Given the description of an element on the screen output the (x, y) to click on. 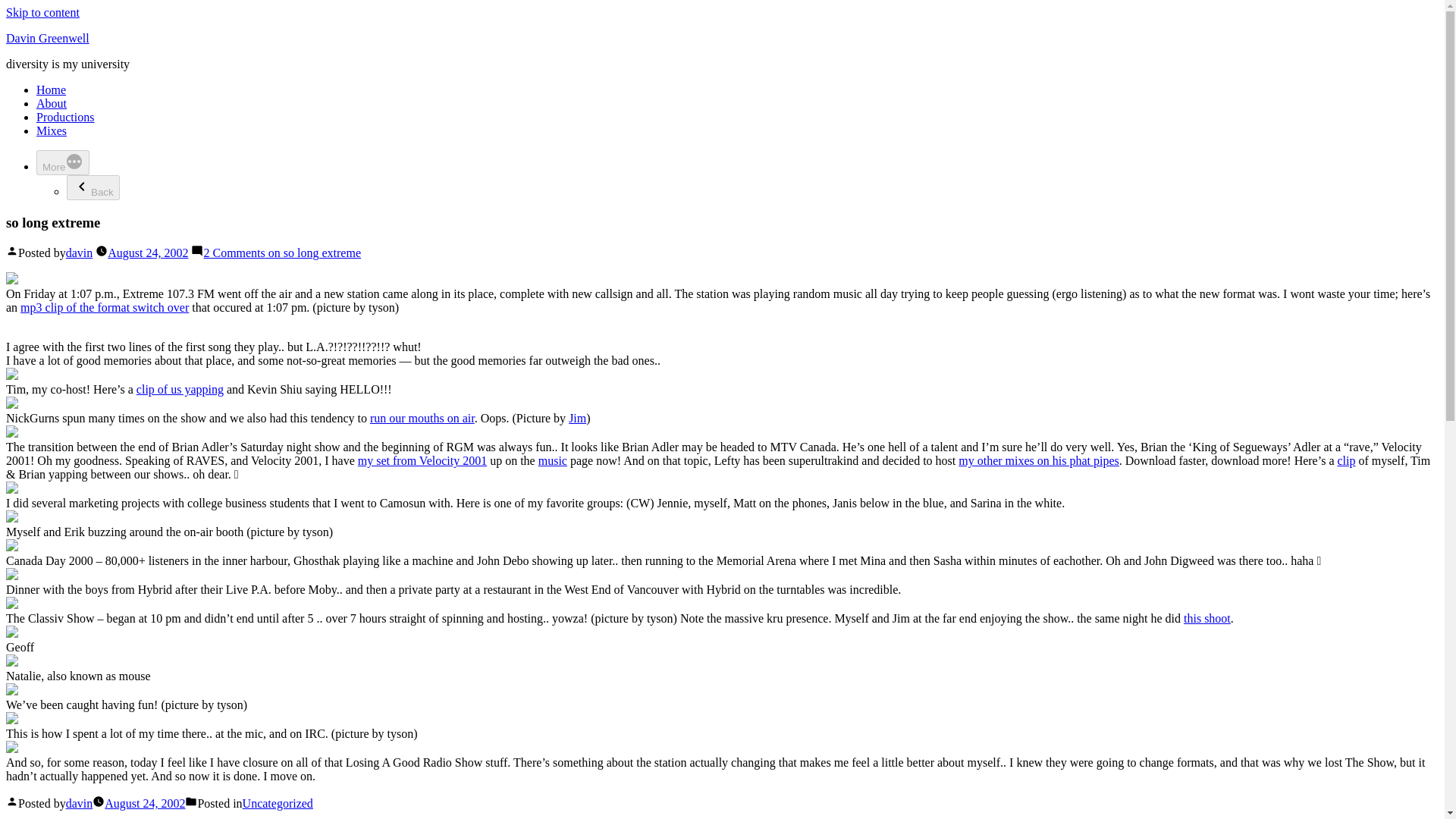
Mixes (51, 130)
Uncategorized (278, 802)
2 Comments on so long extreme (282, 252)
clip (1346, 460)
my other mixes on his phat pipes (1038, 460)
clip of us yapping (180, 389)
Skip to content (42, 11)
Davin Greenwell (46, 38)
run our mouths on air (421, 418)
Jim (577, 418)
More (62, 162)
this shoot (1206, 617)
davin (79, 802)
Back (92, 187)
my set from Velocity 2001 (422, 460)
